Given the description of an element on the screen output the (x, y) to click on. 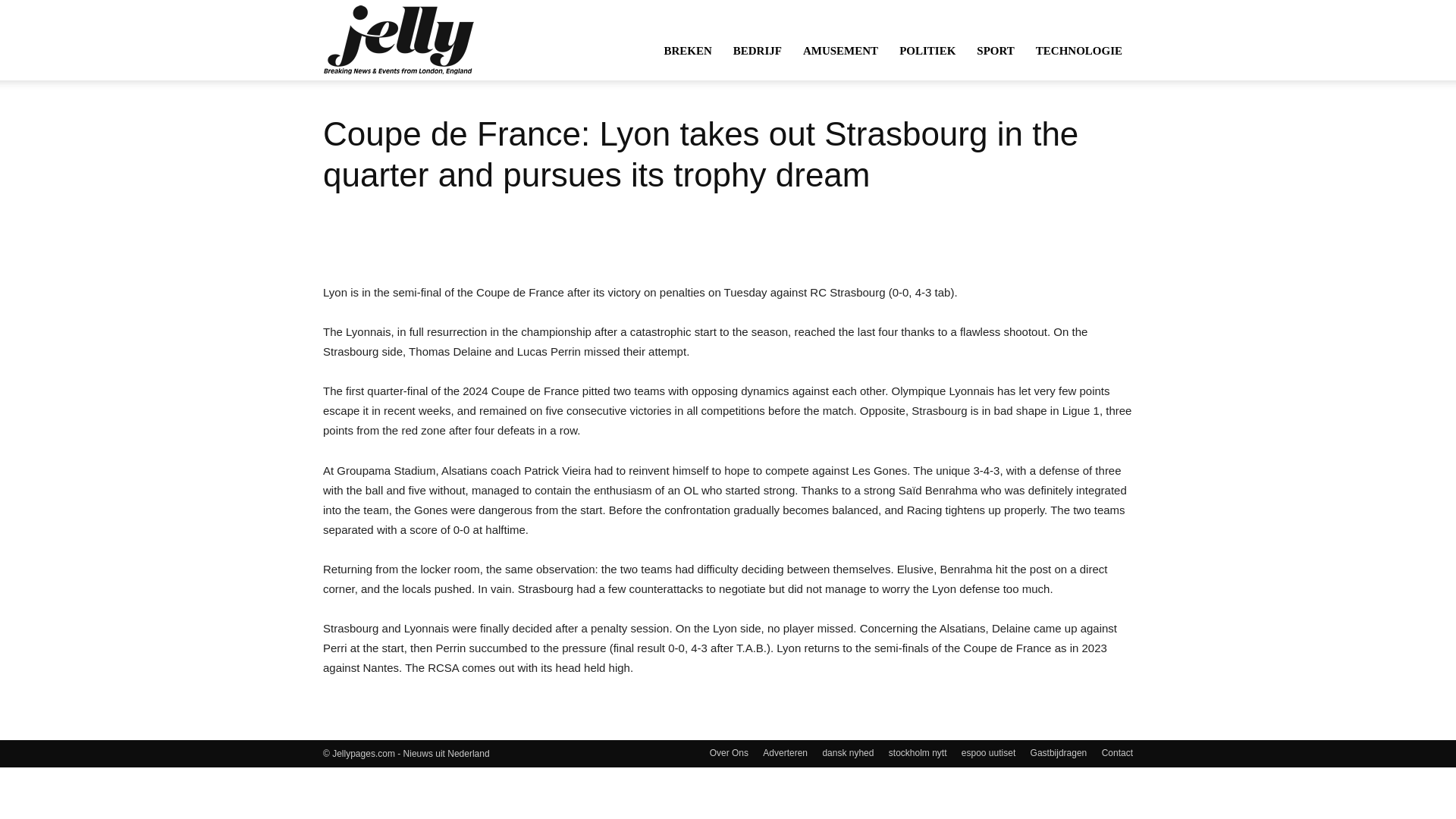
Over Ons (729, 753)
TECHNOLOGIE (1078, 50)
AMUSEMENT (840, 50)
dansk nyhed (847, 753)
BREKEN (687, 50)
BEDRIJF (757, 50)
stockholm nytt (917, 753)
Adverteren (785, 753)
Contact (1117, 753)
SPORT (995, 50)
